Given the description of an element on the screen output the (x, y) to click on. 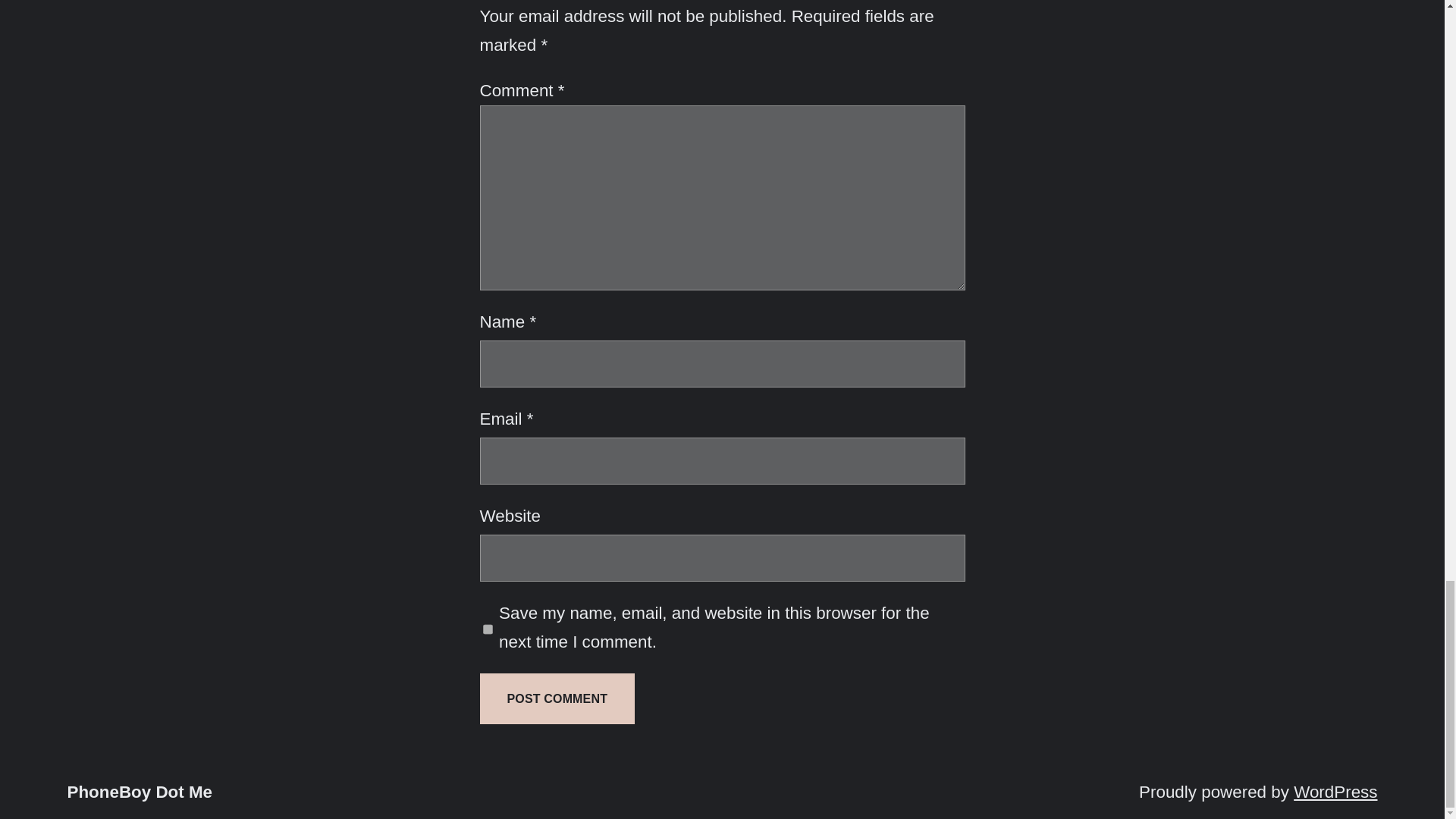
PhoneBoy Dot Me (139, 791)
Post Comment (556, 698)
WordPress (1335, 791)
Post Comment (556, 698)
